Given the description of an element on the screen output the (x, y) to click on. 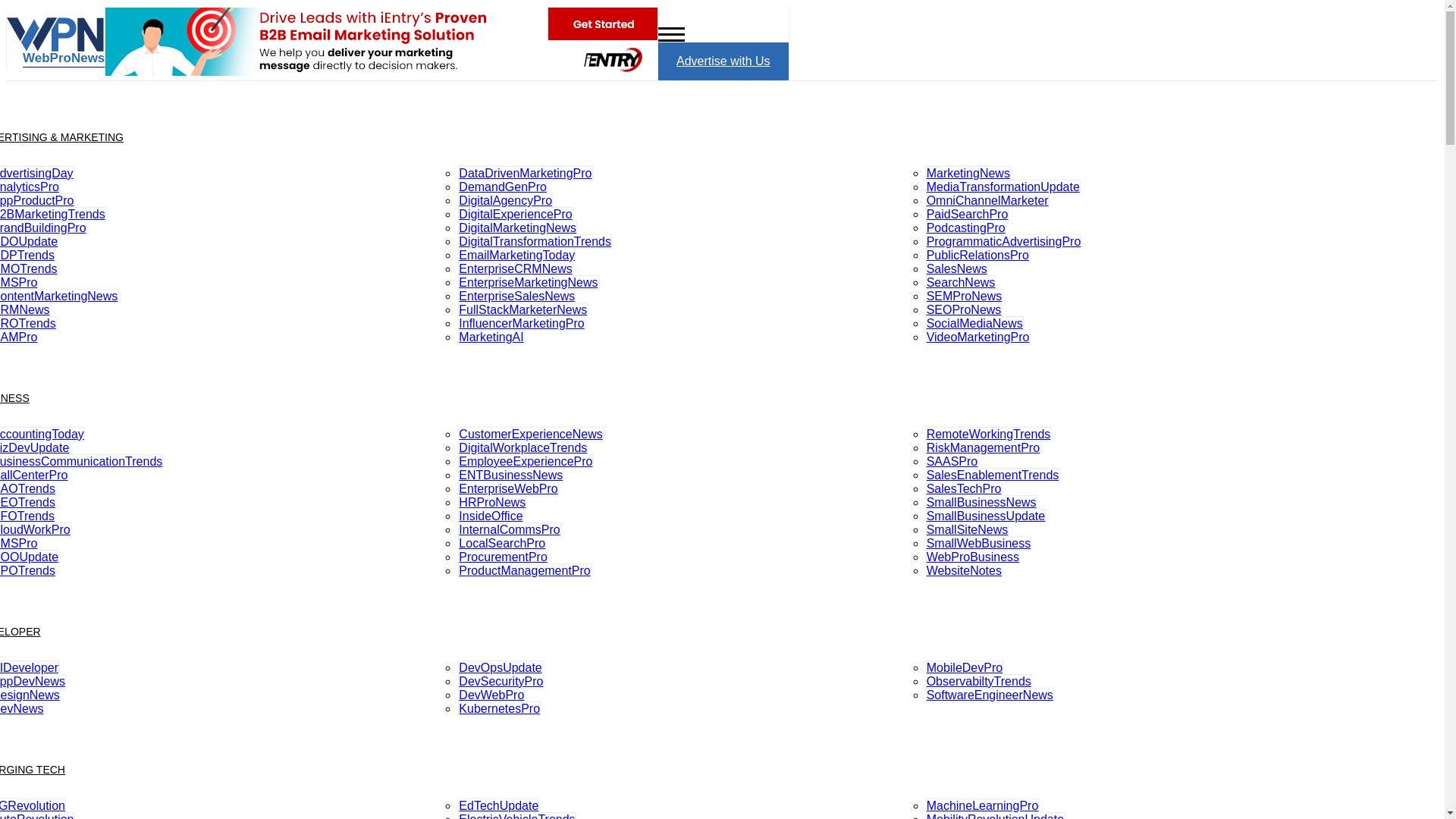
EnterpriseSalesNews (516, 296)
SalesNews (957, 268)
B2BMarketingTrends (53, 214)
DemandGenPro (502, 186)
CRMNews (24, 309)
AppProductPro (37, 200)
PublicRelationsPro (977, 255)
Advertise with Us (723, 61)
MarketingNews (968, 173)
EmailMarketingToday (516, 255)
DigitalExperiencePro (515, 214)
MediaTransformationUpdate (1003, 186)
WebProNews (55, 53)
FullStackMarketerNews (523, 309)
InfluencerMarketingPro (521, 323)
